Given the description of an element on the screen output the (x, y) to click on. 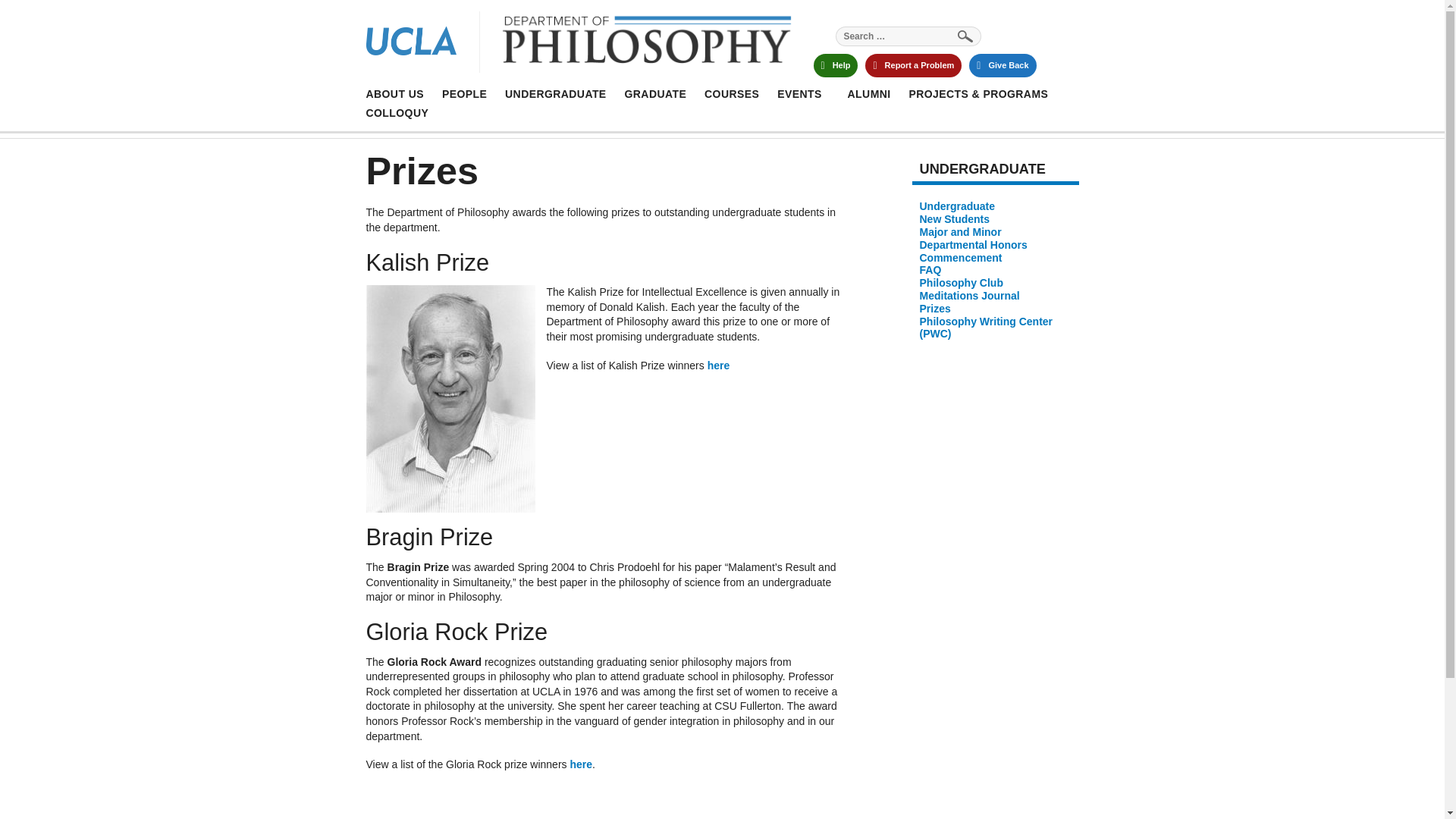
Help (588, 43)
ABOUT US (834, 65)
COURSES (394, 93)
UNDERGRADUATE (731, 93)
GRADUATE (556, 93)
Give Back (655, 93)
Report a Problem (1002, 65)
Search for: (912, 65)
PEOPLE (908, 35)
